Given the description of an element on the screen output the (x, y) to click on. 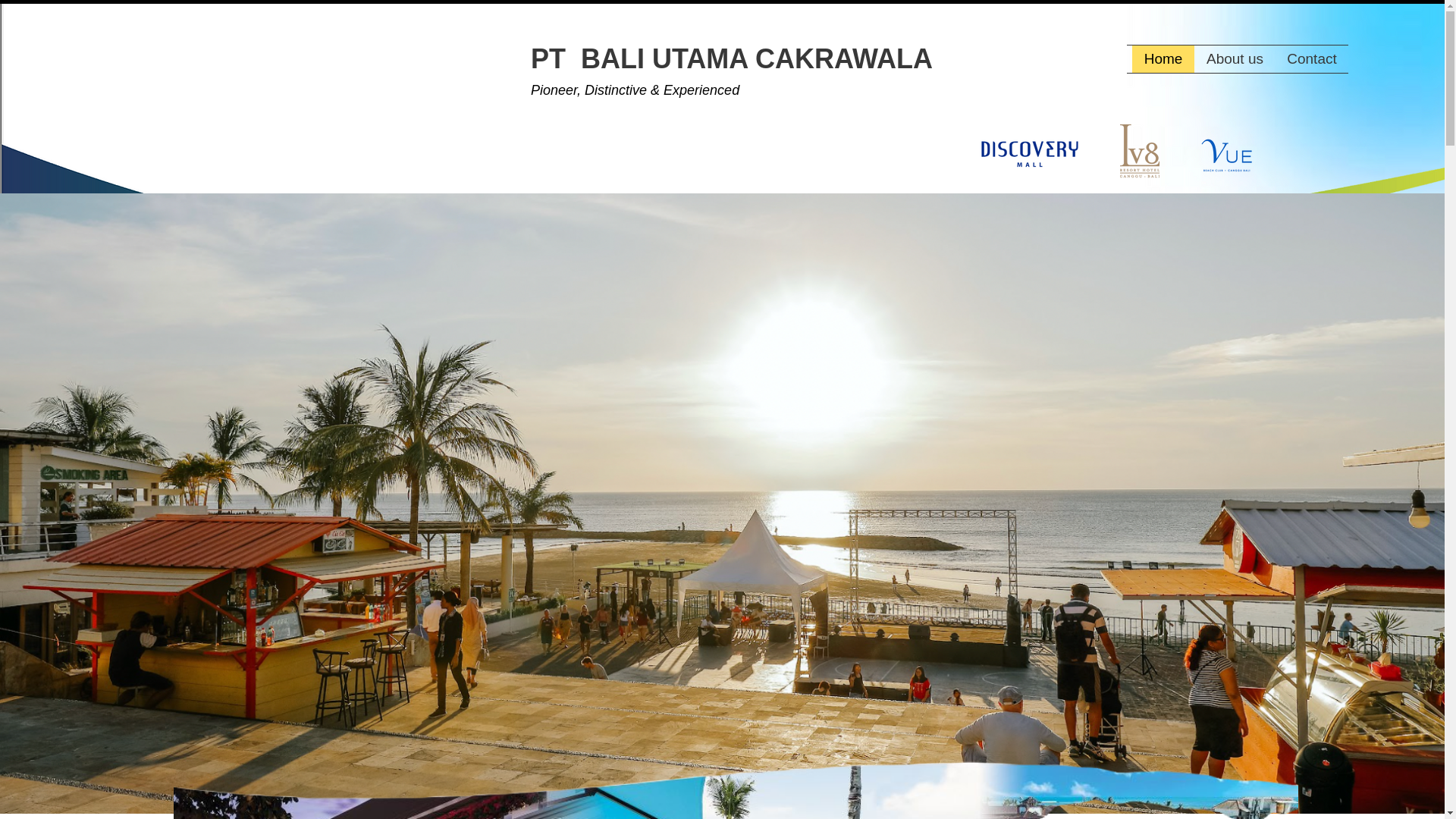
Home (1162, 58)
About us (1234, 58)
PT  BALI UTAMA CAKRAWALA (732, 58)
Contact (1311, 58)
